Given the description of an element on the screen output the (x, y) to click on. 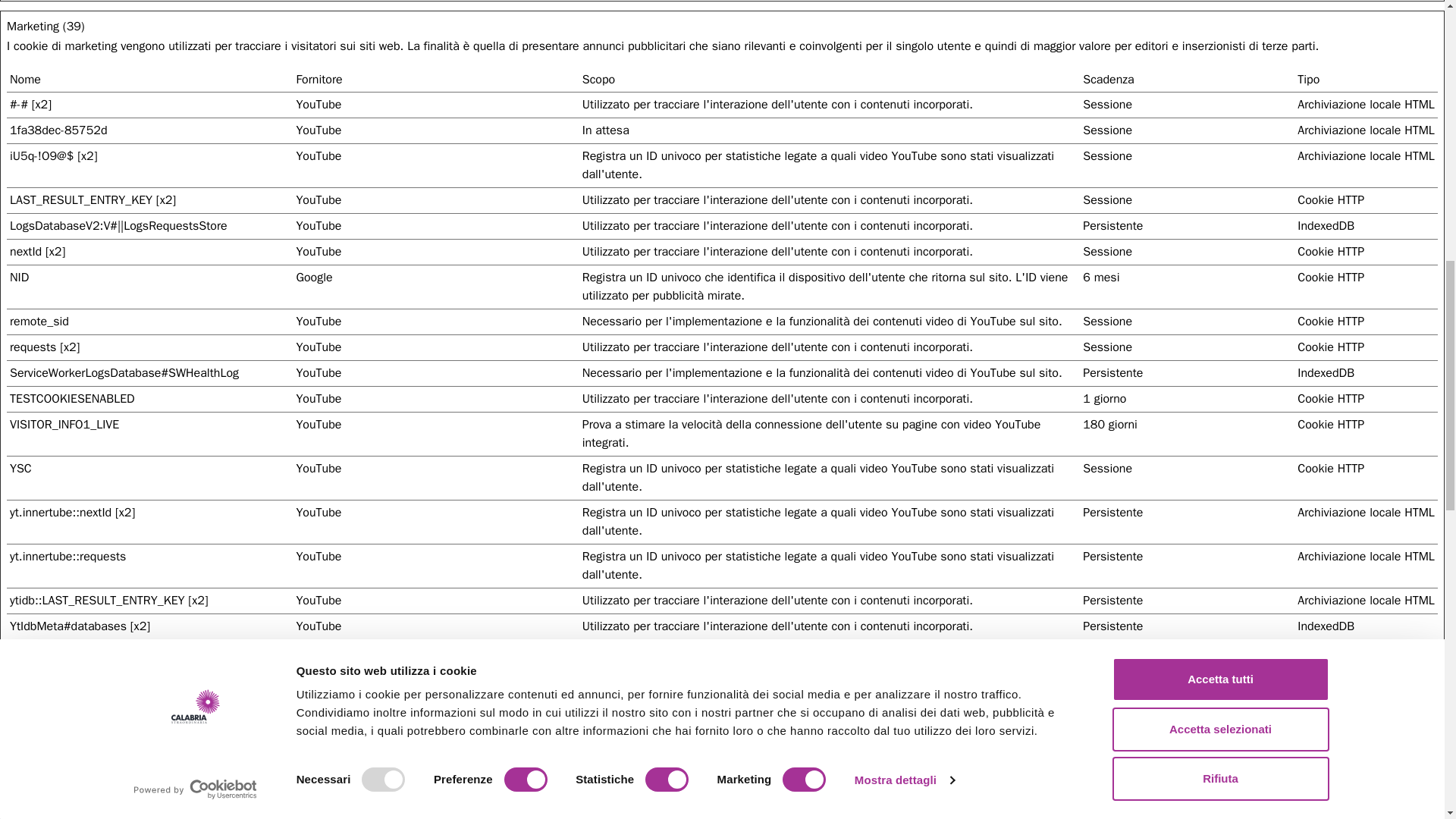
l'informativa sulla privacy di YouTube (317, 200)
YouTube (317, 780)
l'informativa sulla privacy di YouTube (317, 652)
YouTube (317, 104)
YouTube (317, 600)
YouTube (317, 225)
YouTube (317, 556)
l'informativa sulla privacy di YouTube (317, 600)
YouTube (317, 130)
l'informativa sulla privacy di YouTube (317, 104)
